Given the description of an element on the screen output the (x, y) to click on. 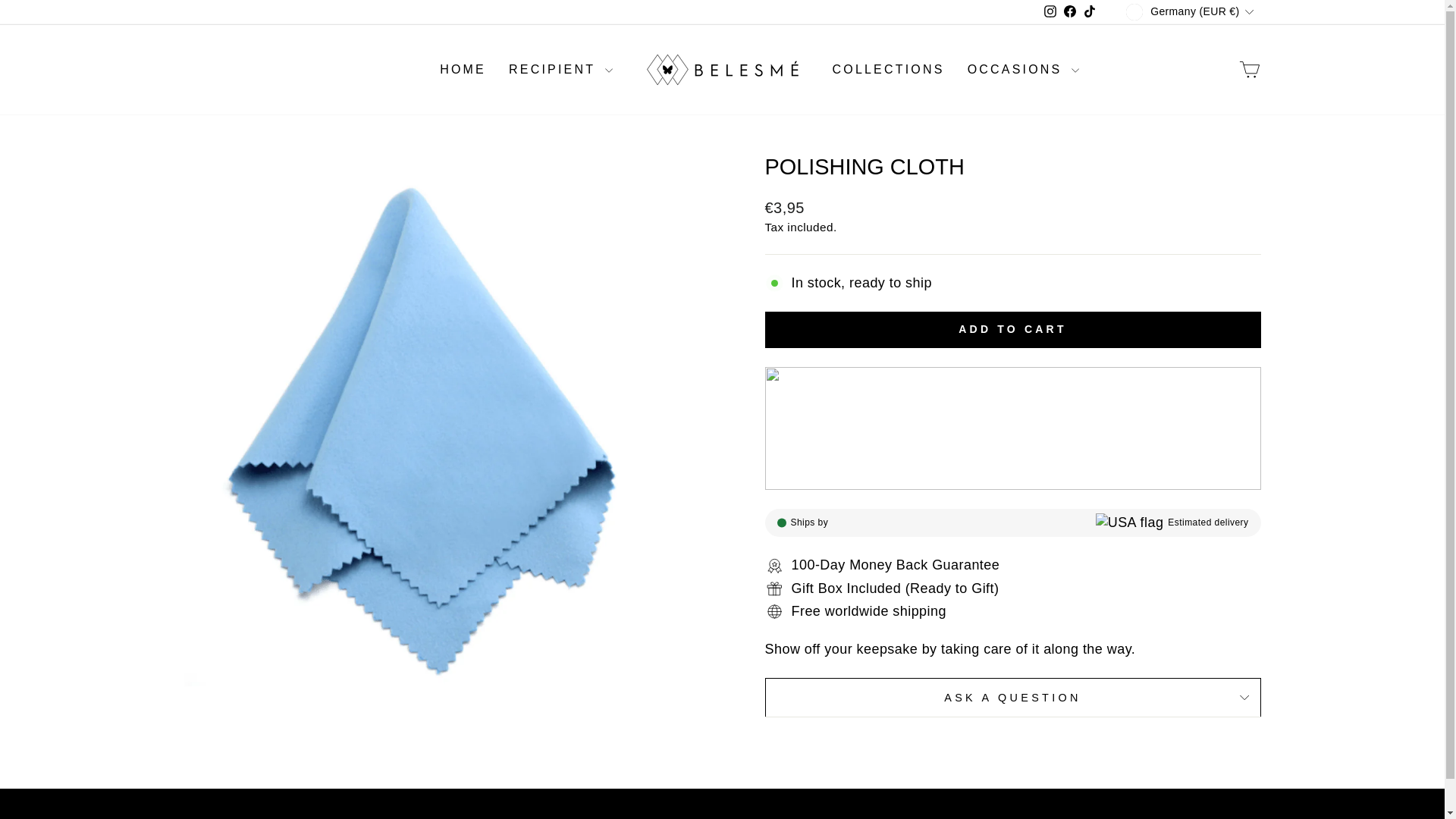
instagram (1050, 10)
